Given the description of an element on the screen output the (x, y) to click on. 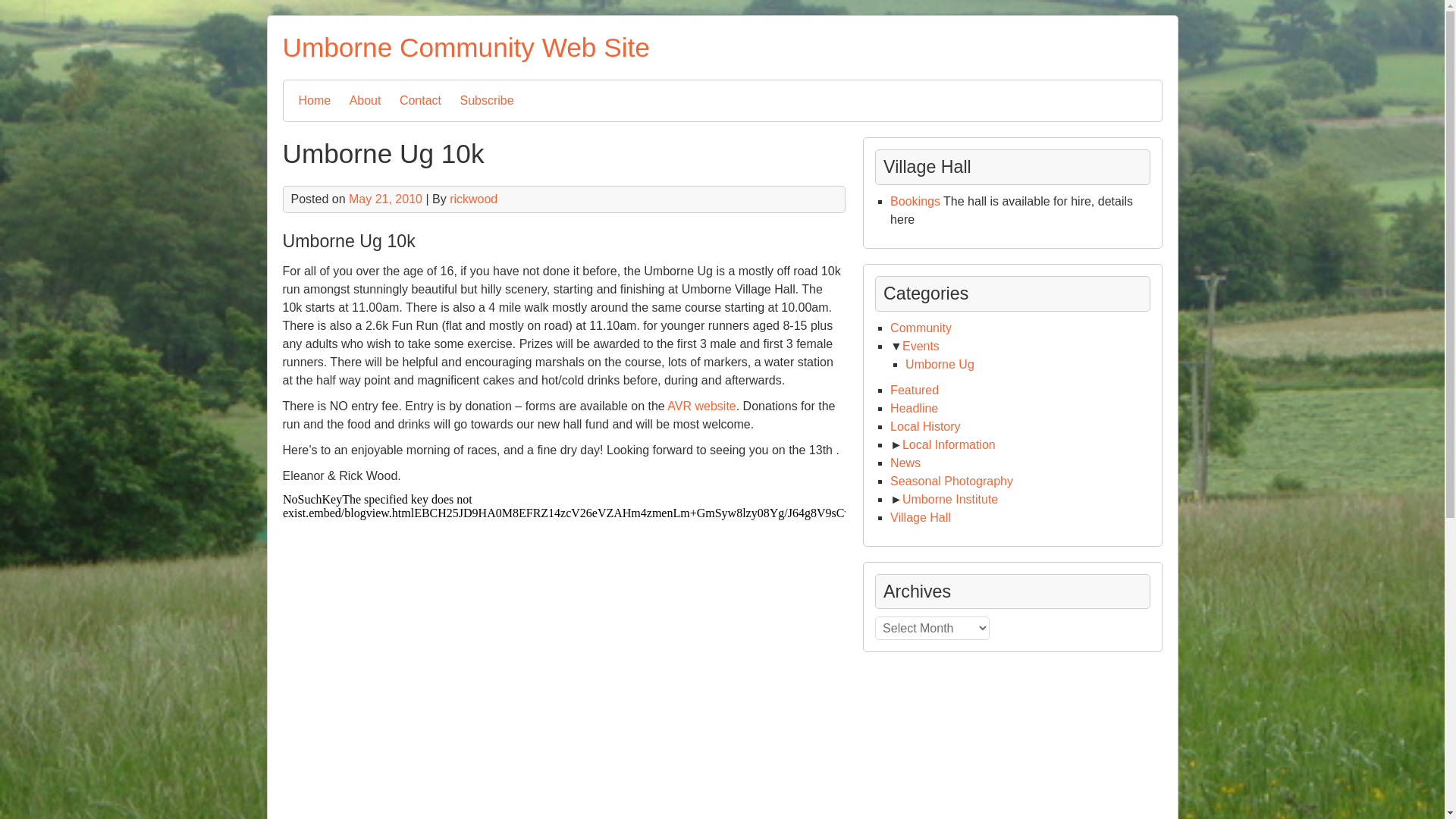
Subscribe (486, 100)
Bookings (914, 201)
Events (920, 345)
View all posts filed under Umborne Ug (939, 364)
Umborne Community Web Site (465, 47)
The hall is available for hire, details here (914, 201)
Local History (924, 426)
View all posts filed under Featured (914, 390)
AVR website (700, 405)
Umborne Community Web Site (465, 47)
Umborne Institute (949, 499)
News (904, 462)
View all posts filed under News (904, 462)
Village Hall (919, 517)
View all posts filed under Events (920, 345)
